Given the description of an element on the screen output the (x, y) to click on. 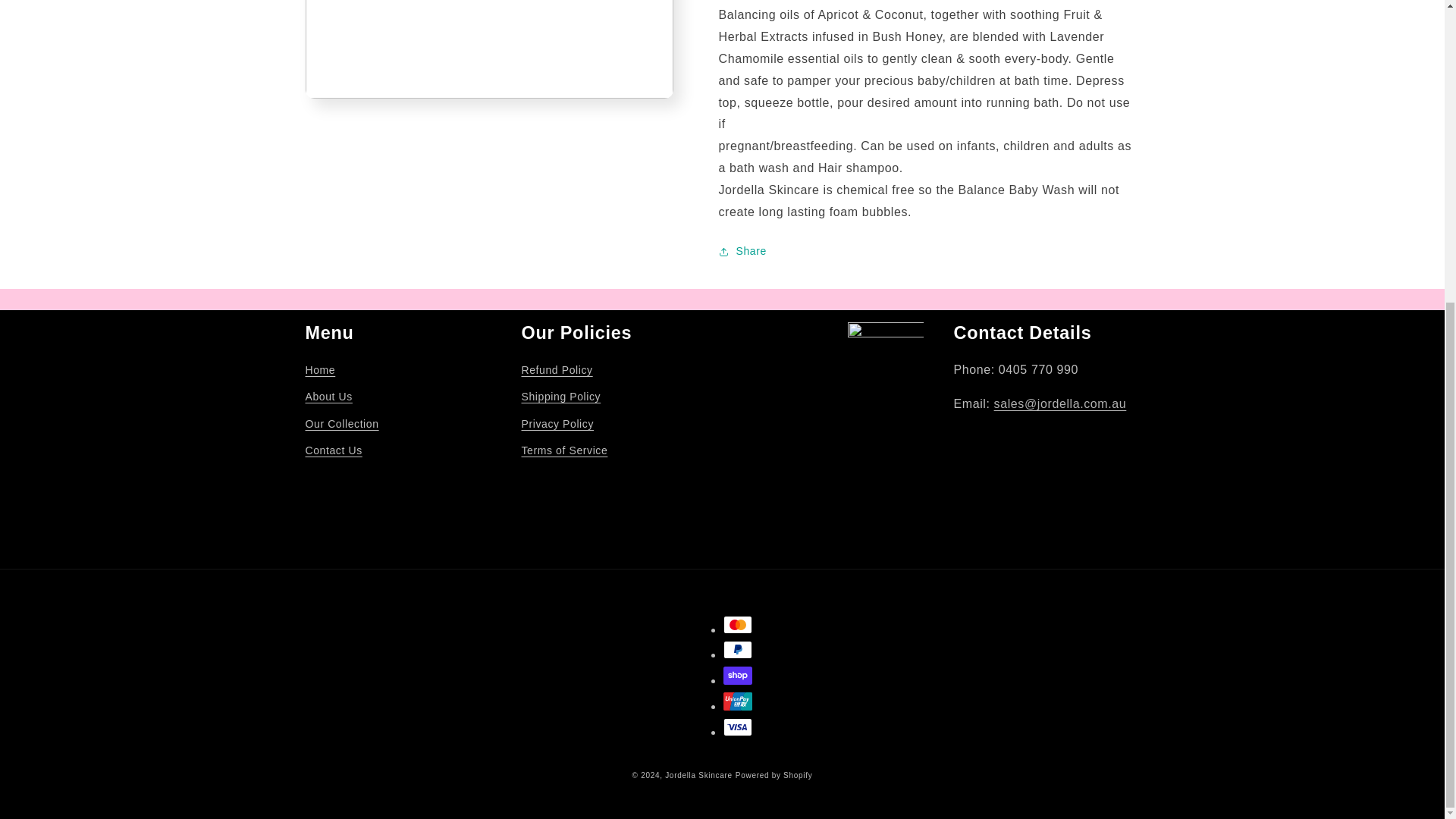
PayPal (737, 649)
Shop Pay (737, 675)
Mastercard (737, 624)
Union Pay (737, 701)
Visa (737, 727)
